Given the description of an element on the screen output the (x, y) to click on. 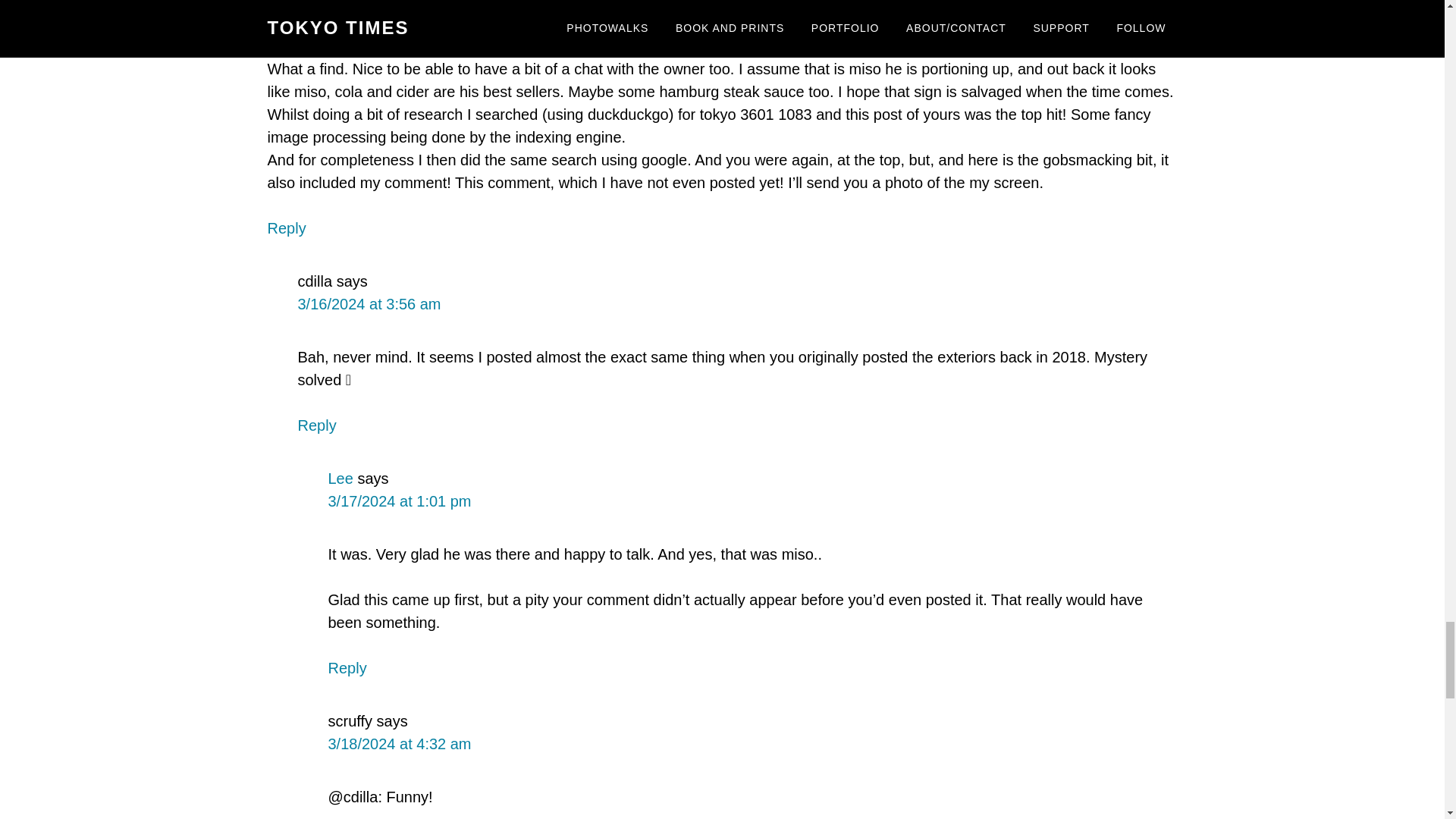
Reply (285, 228)
